Given the description of an element on the screen output the (x, y) to click on. 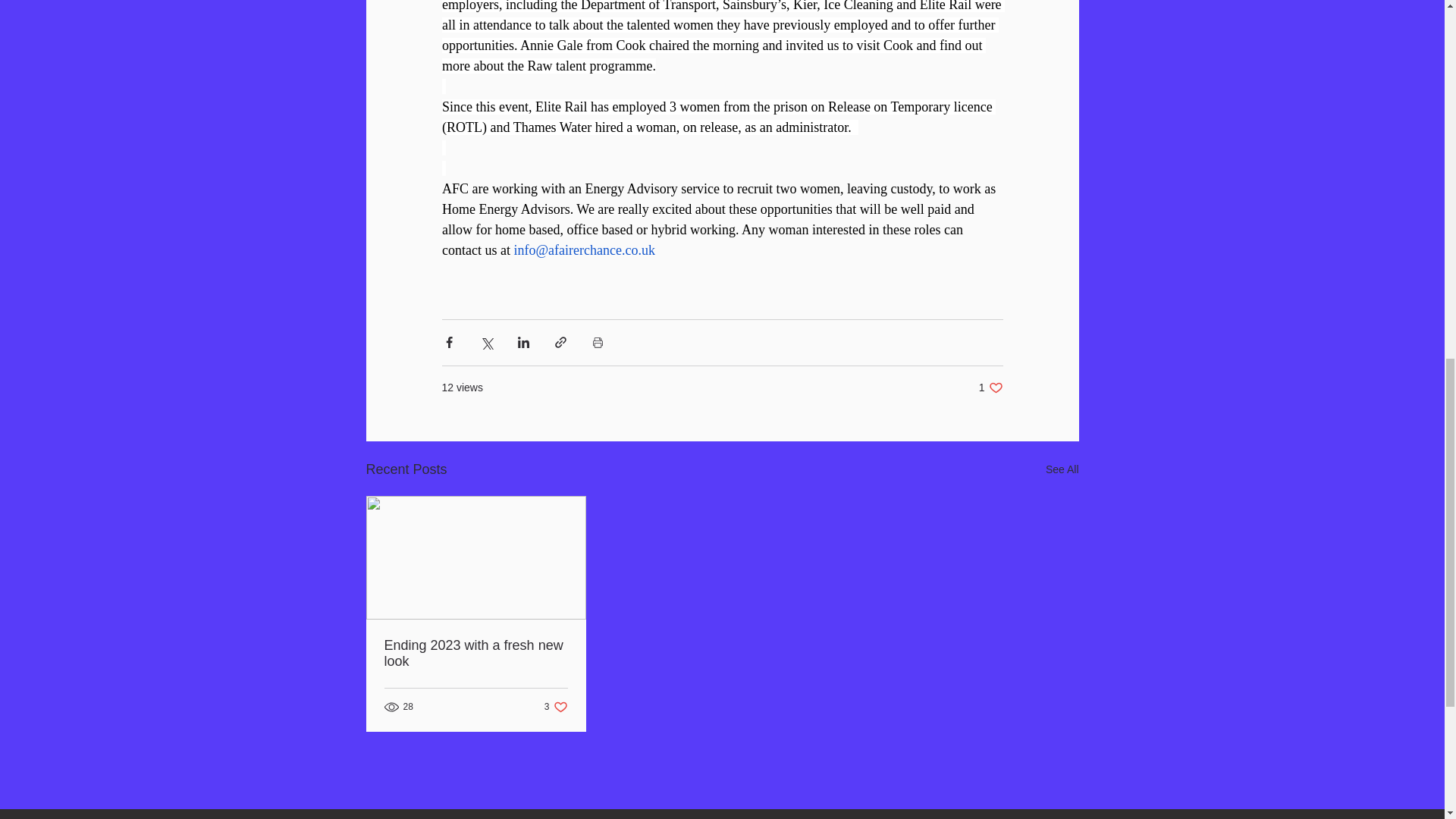
See All (1061, 469)
Ending 2023 with a fresh new look (475, 653)
